Given the description of an element on the screen output the (x, y) to click on. 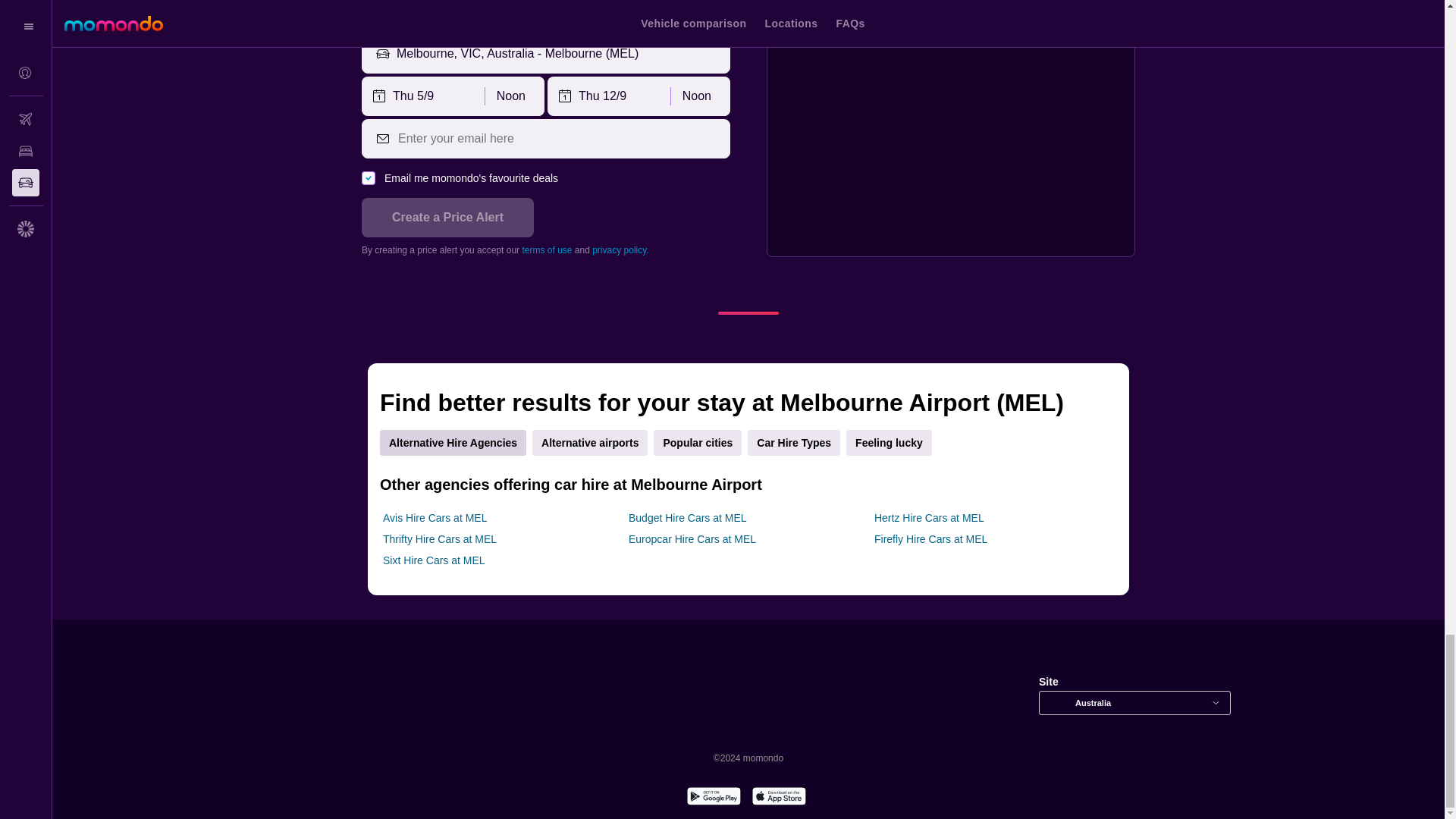
Create a Price Alert (447, 217)
Car Hire Types (794, 442)
privacy policy. (619, 249)
Alternative airports (589, 442)
Europcar Hire Cars at MEL (691, 539)
Hertz Hire Cars at MEL (929, 517)
Alternative Hire Agencies (452, 442)
Download on the App Store (778, 797)
Popular cities (697, 442)
Get it on Google Play (713, 797)
